Given the description of an element on the screen output the (x, y) to click on. 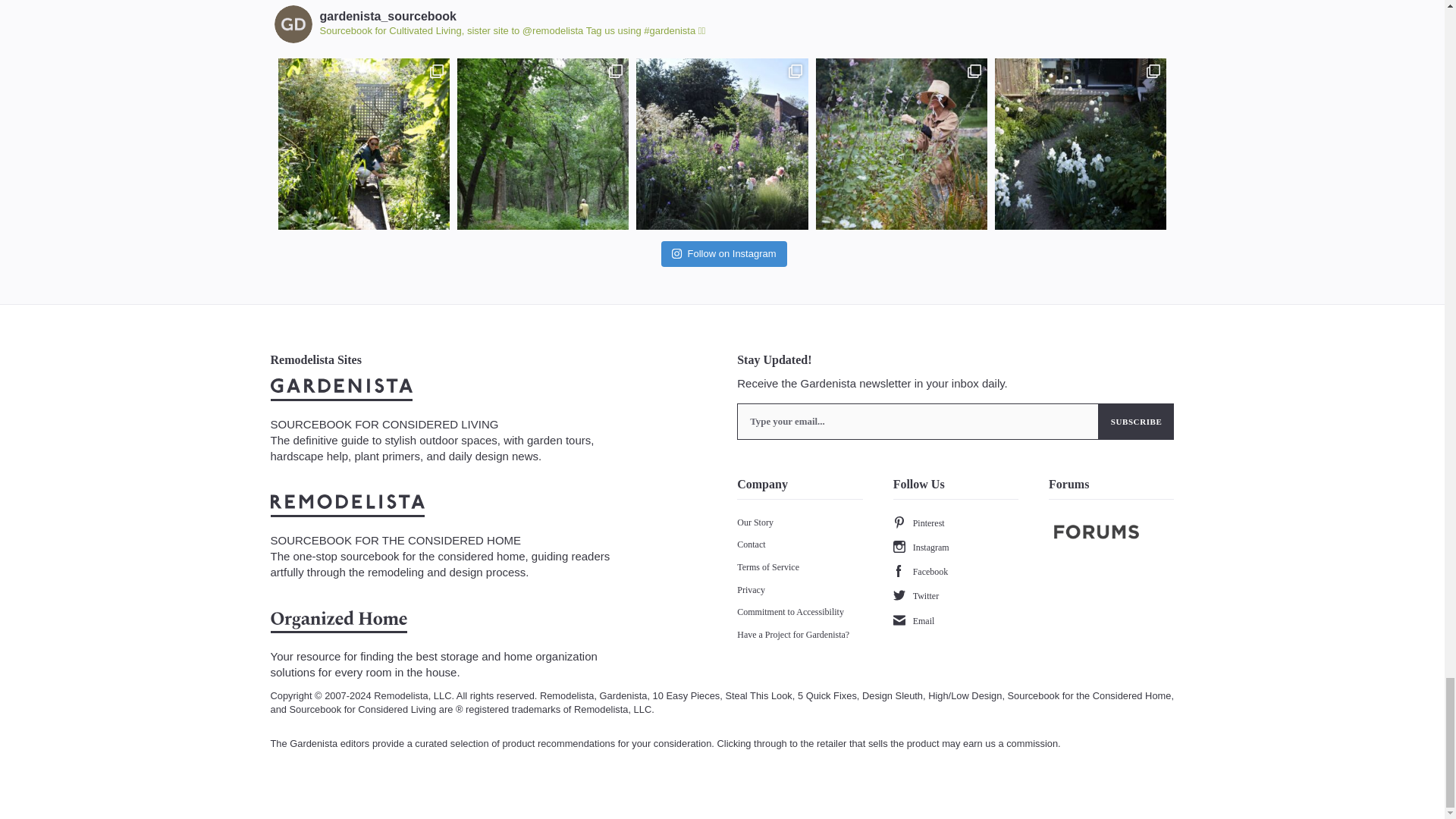
Subscribe (1136, 421)
